Given the description of an element on the screen output the (x, y) to click on. 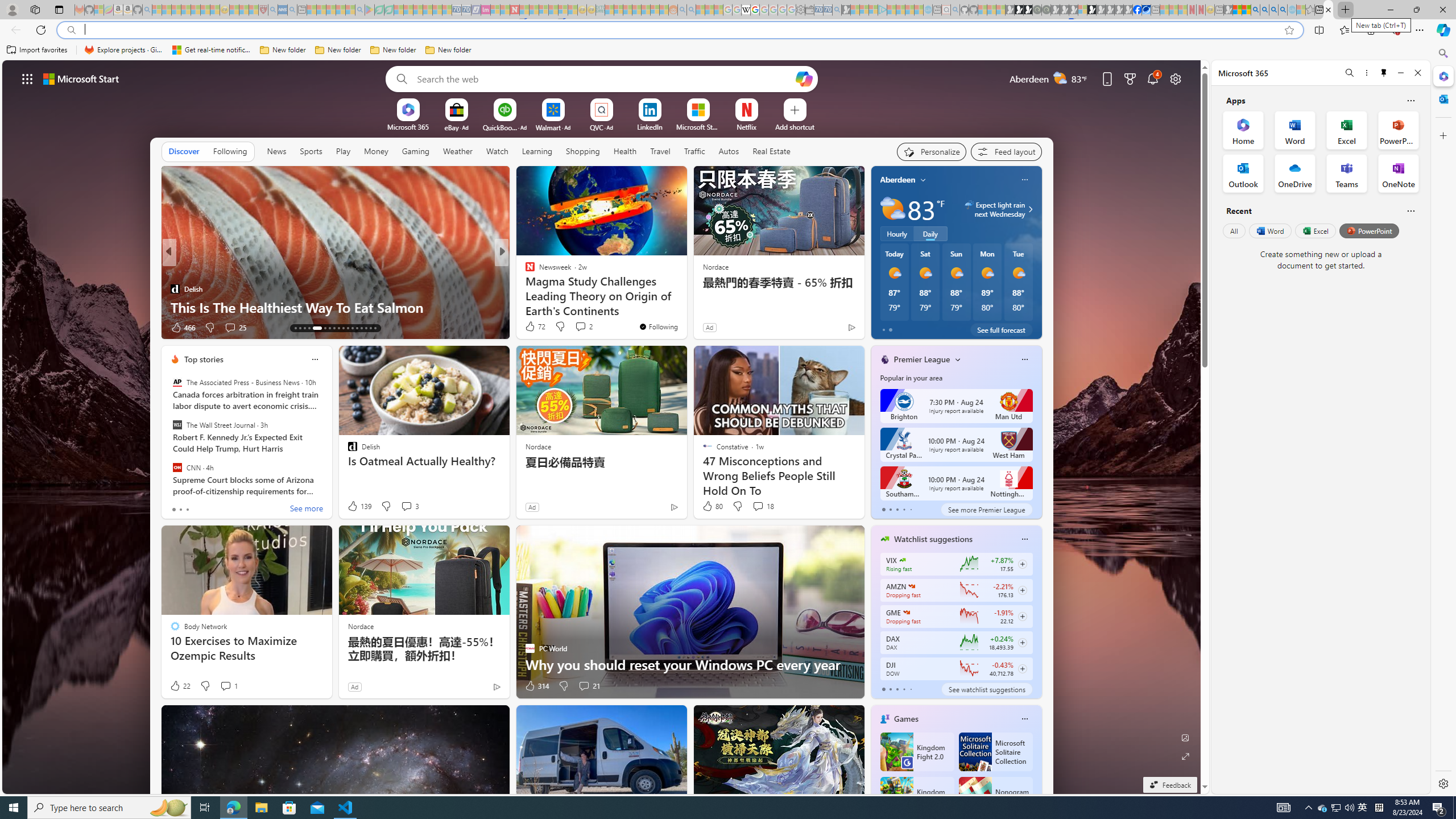
View comments 1 Comment (228, 685)
Expert Portfolios - Sleeping (636, 9)
View comments 21 Comment (588, 685)
Travel (660, 151)
AutomationID: tab-23 (347, 328)
Trusted Community Engagement and Contributions | Guidelines (524, 9)
Health (624, 151)
Home Office App (1243, 129)
Feed settings (1005, 151)
utah sues federal government - Search - Sleeping (291, 9)
Future Focus Report 2024 - Sleeping (1045, 9)
OneDrive Office App (1295, 172)
